Given the description of an element on the screen output the (x, y) to click on. 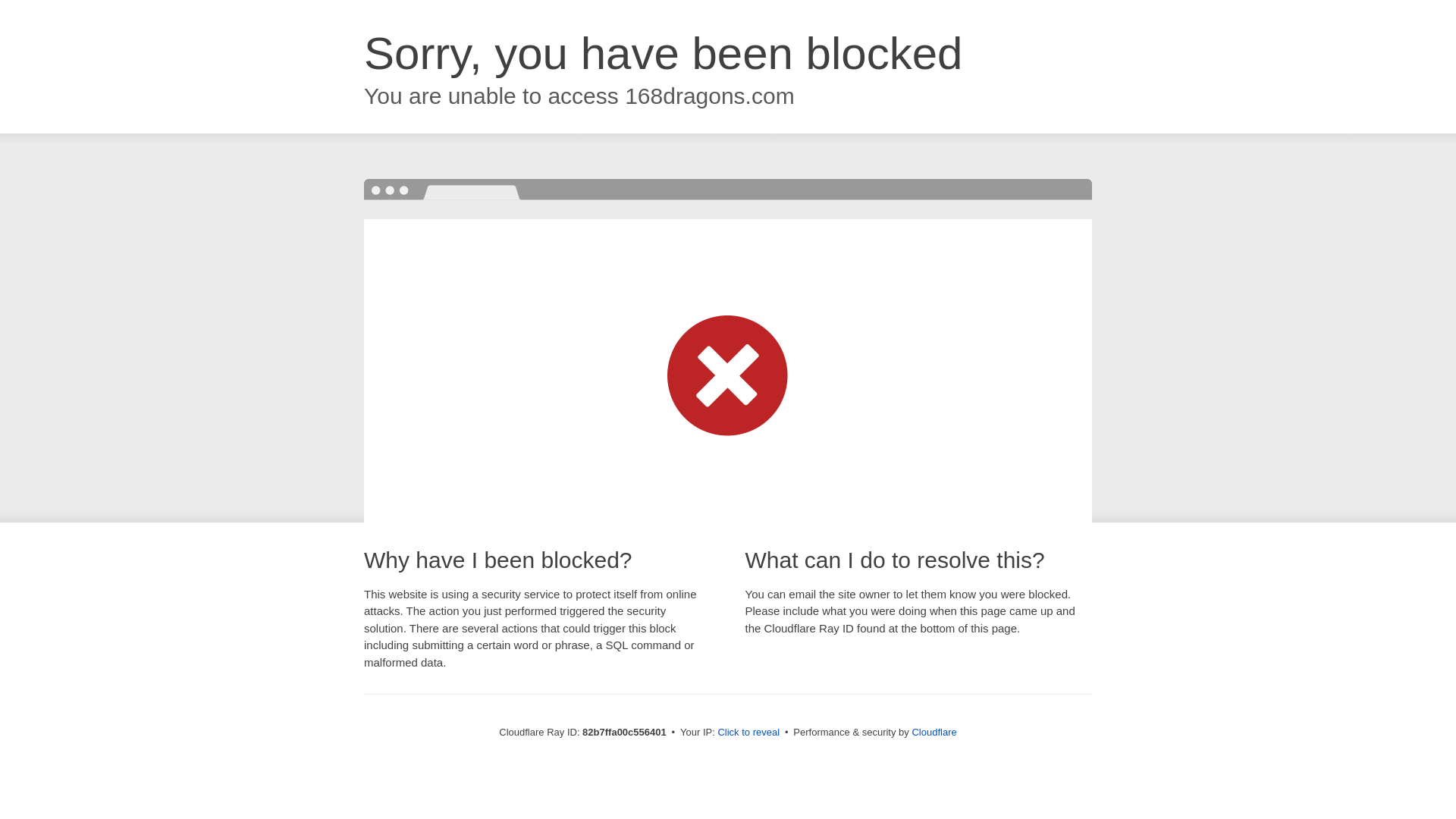
Click to reveal Element type: text (748, 732)
Cloudflare Element type: text (933, 731)
